Given the description of an element on the screen output the (x, y) to click on. 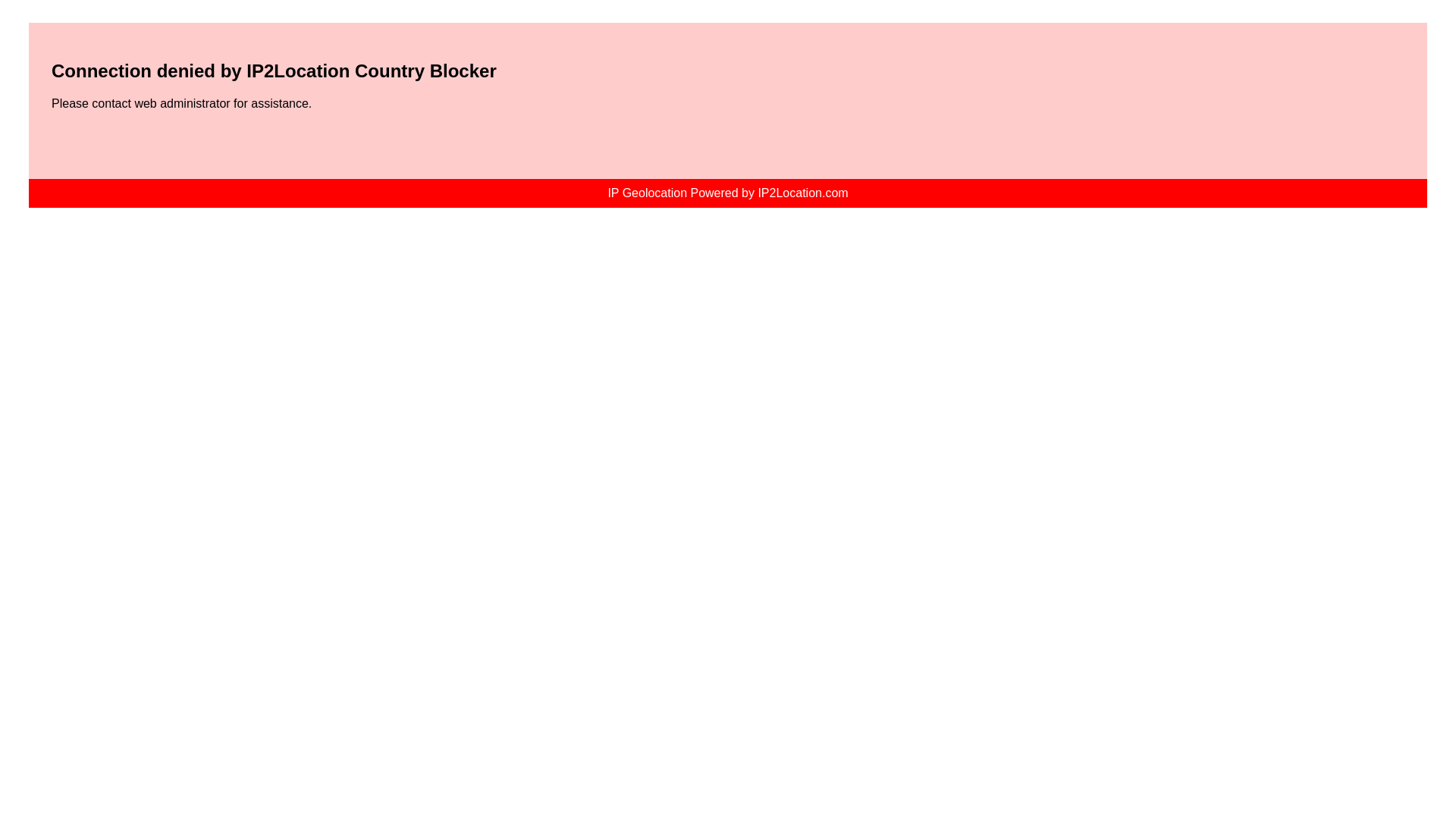
IP Geolocation Powered by IP2Location.com (727, 192)
